Given the description of an element on the screen output the (x, y) to click on. 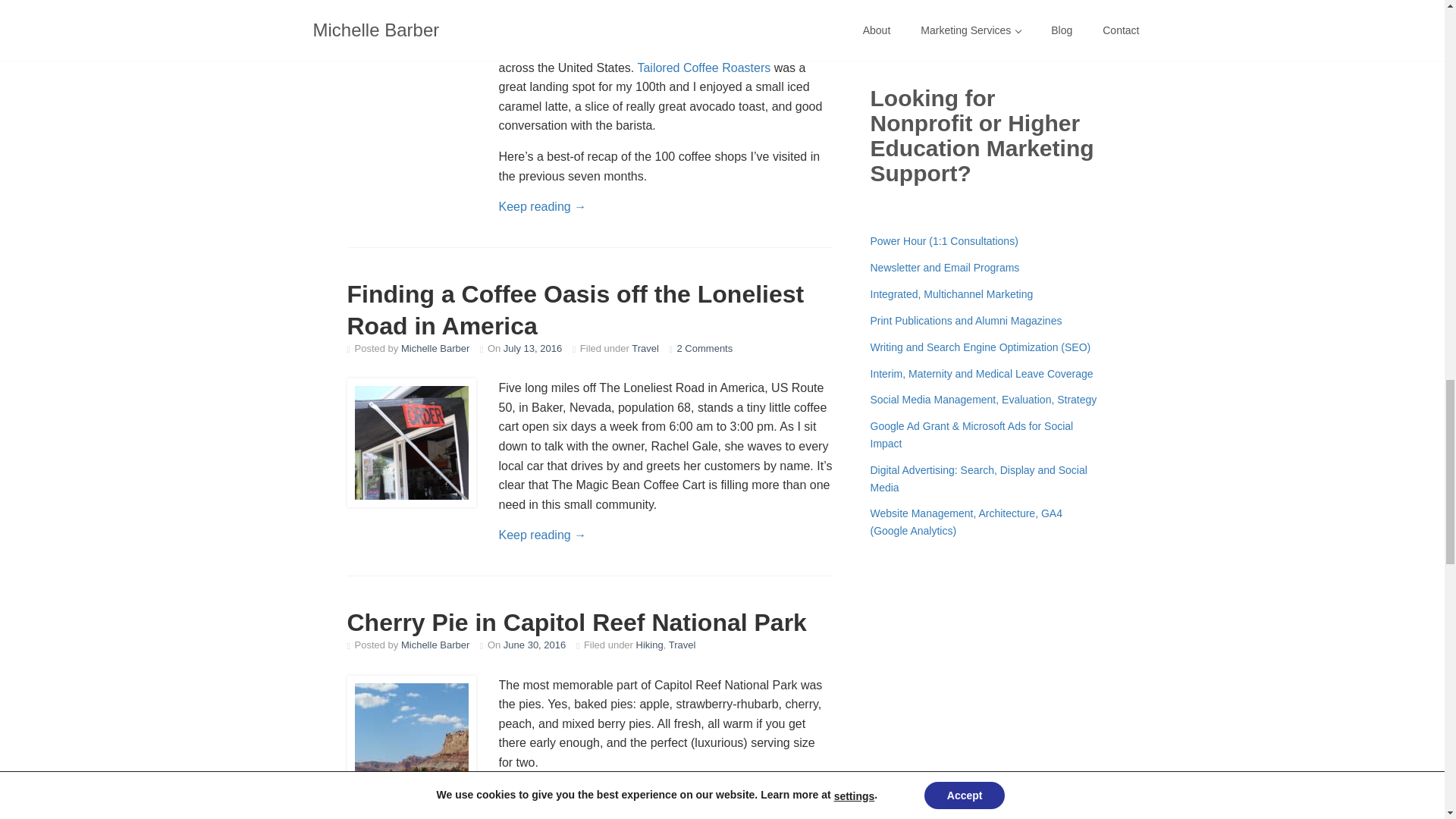
Tailored Coffee Roasters (703, 67)
marketing clients (679, 2)
Finding a Coffee Oasis off the Loneliest Road in America (576, 309)
